Given the description of an element on the screen output the (x, y) to click on. 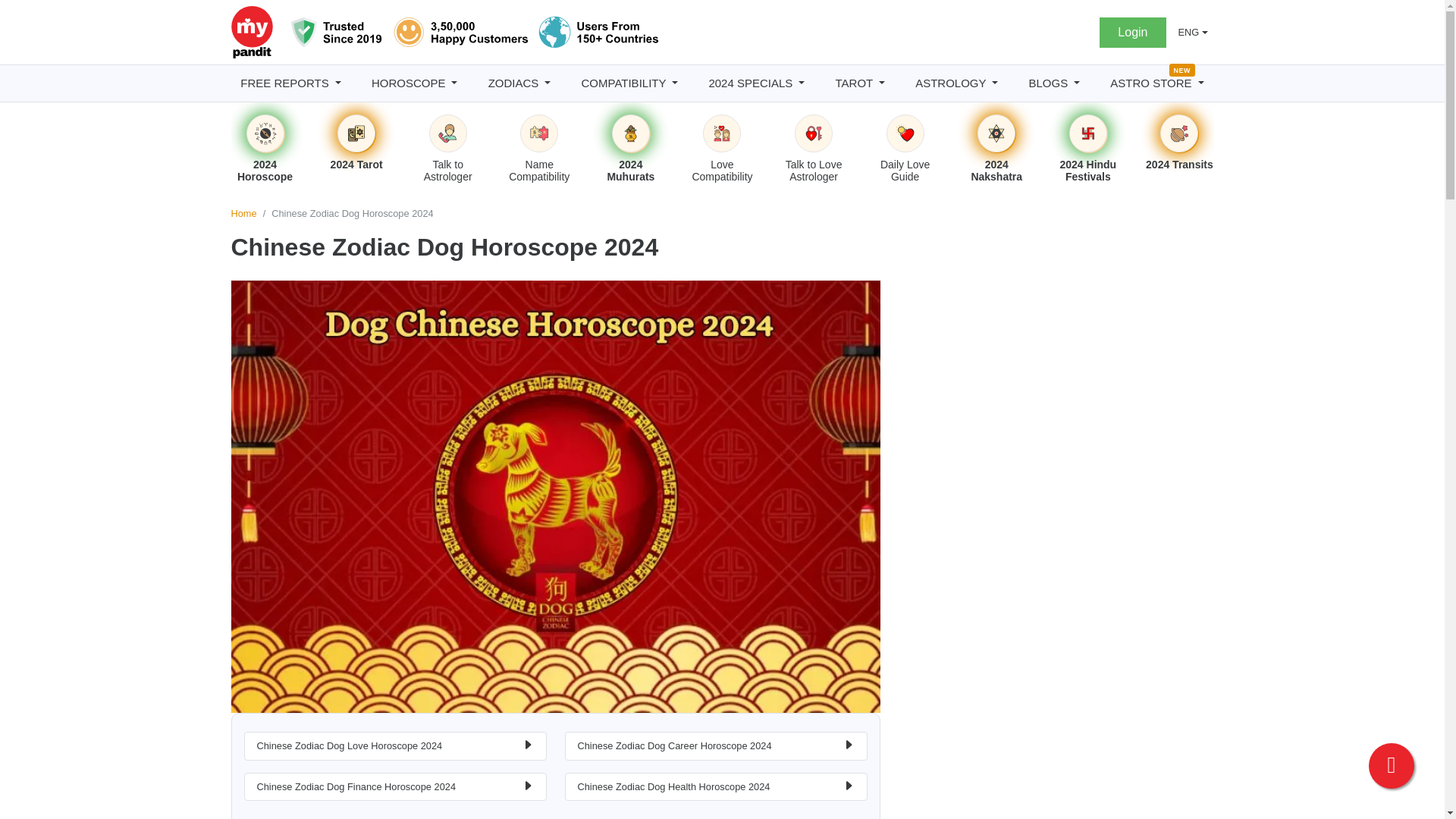
2024 Horoscope (264, 133)
MyPandit (474, 32)
Login (1132, 31)
HOROSCOPE (414, 83)
2024 Transits (1179, 133)
Daily Love Guide (905, 133)
Talk to Astrologer (448, 133)
2024 Nakshatra (996, 133)
2024 Muhurats (631, 133)
Love Compatibility (721, 133)
